Given the description of an element on the screen output the (x, y) to click on. 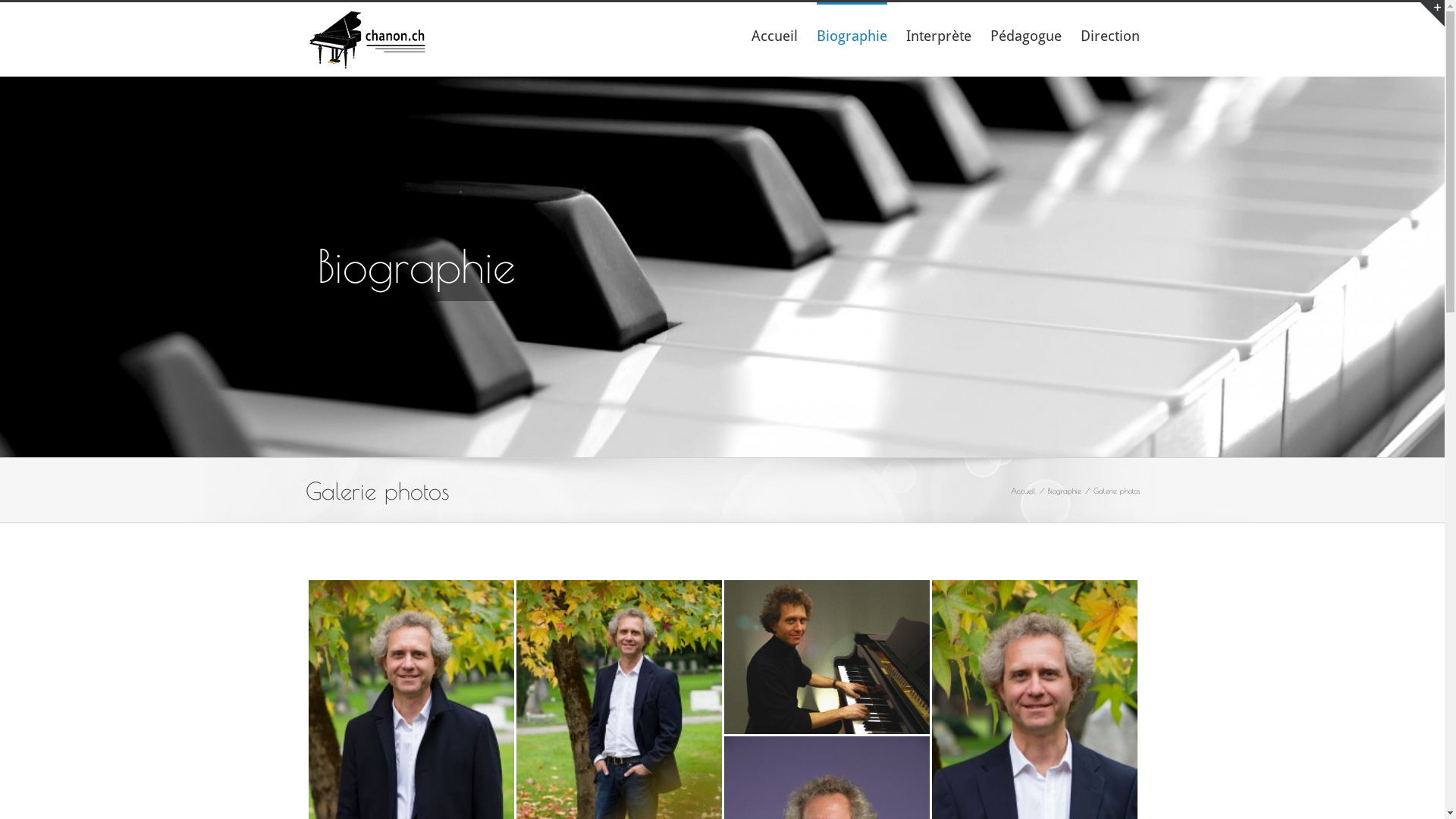
Biographie Element type: text (850, 34)
Accueil Element type: text (1022, 489)
Direction Element type: text (1109, 34)
Biographie Element type: text (1064, 489)
Accueil Element type: text (773, 34)
